Given the description of an element on the screen output the (x, y) to click on. 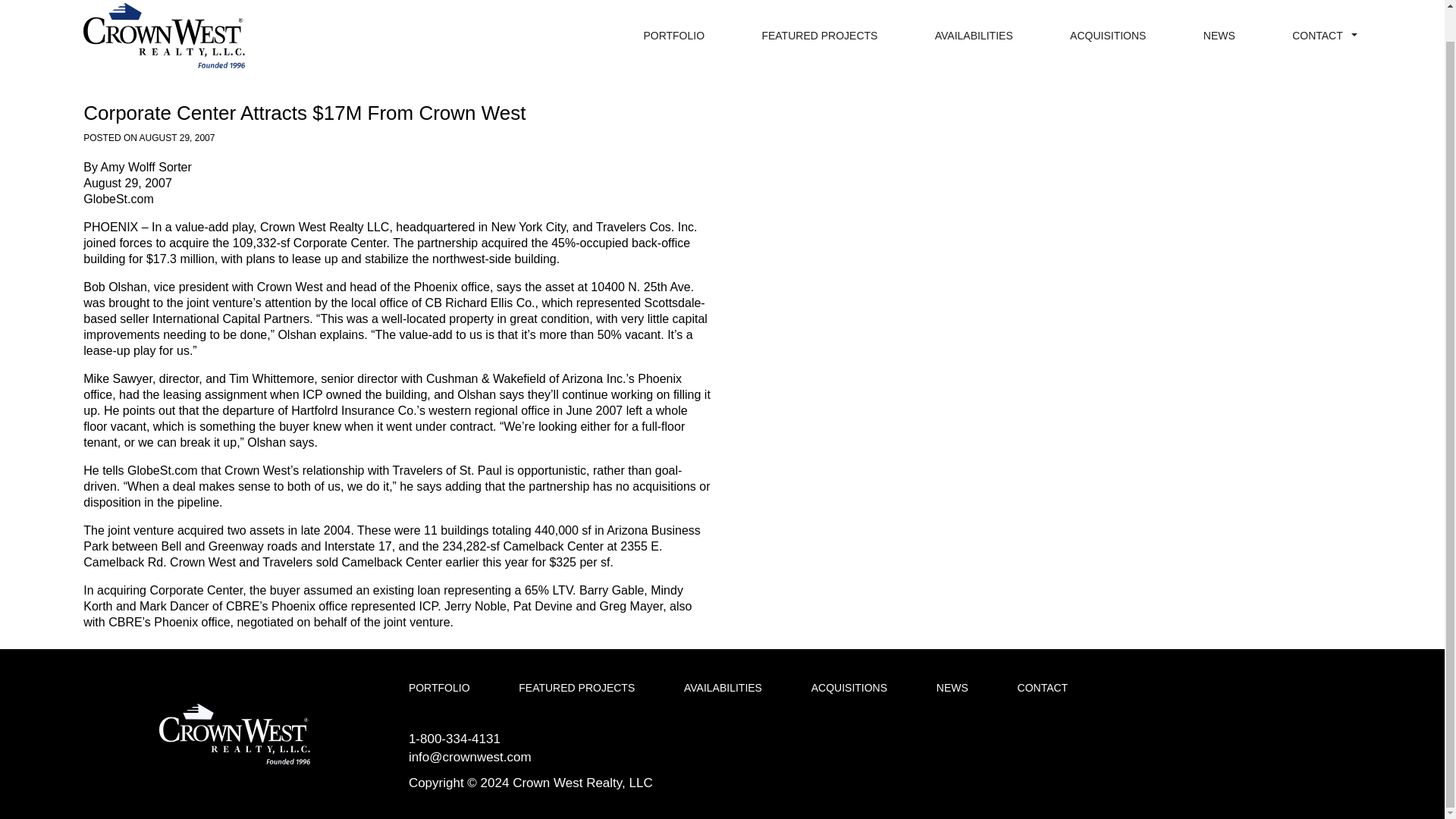
FEATURED PROJECTS (819, 35)
NEWS (1219, 35)
ACQUISITIONS (1107, 35)
NEWS (952, 687)
PORTFOLIO (673, 35)
Crown West Realty (233, 733)
1-800-334-4131 (454, 739)
PORTFOLIO (439, 687)
FEATURED PROJECTS (576, 687)
AVAILABILITIES (722, 687)
